Given the description of an element on the screen output the (x, y) to click on. 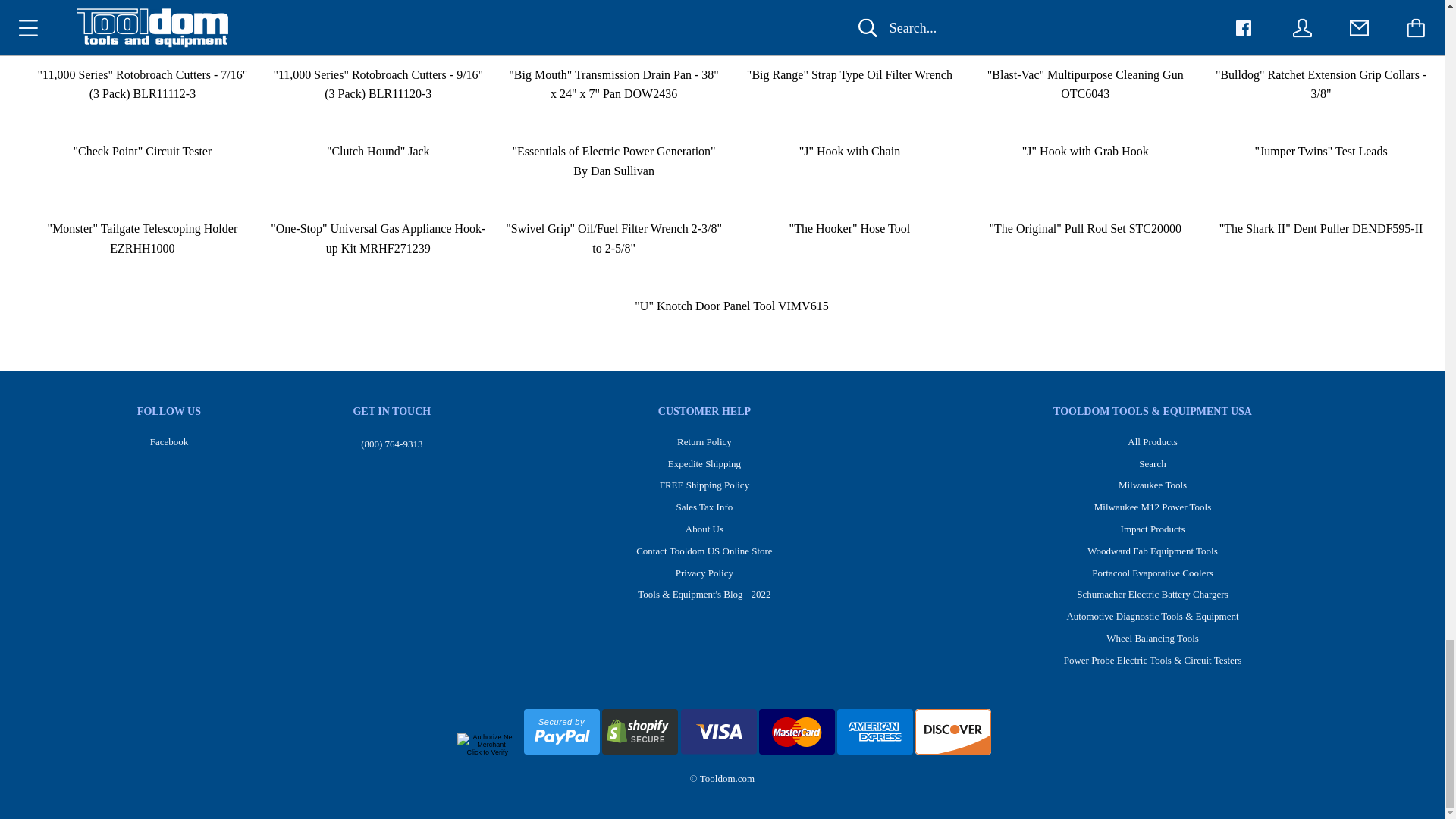
We Accept the Discover Card Created with Sketch. (561, 731)
How PayPal Works (953, 731)
We Accept AmericanExpress Created with Sketch. (563, 750)
We Accept MasterCard Created with Sketch. (874, 731)
We Accept Visa Created with Sketch. (796, 731)
